Given the description of an element on the screen output the (x, y) to click on. 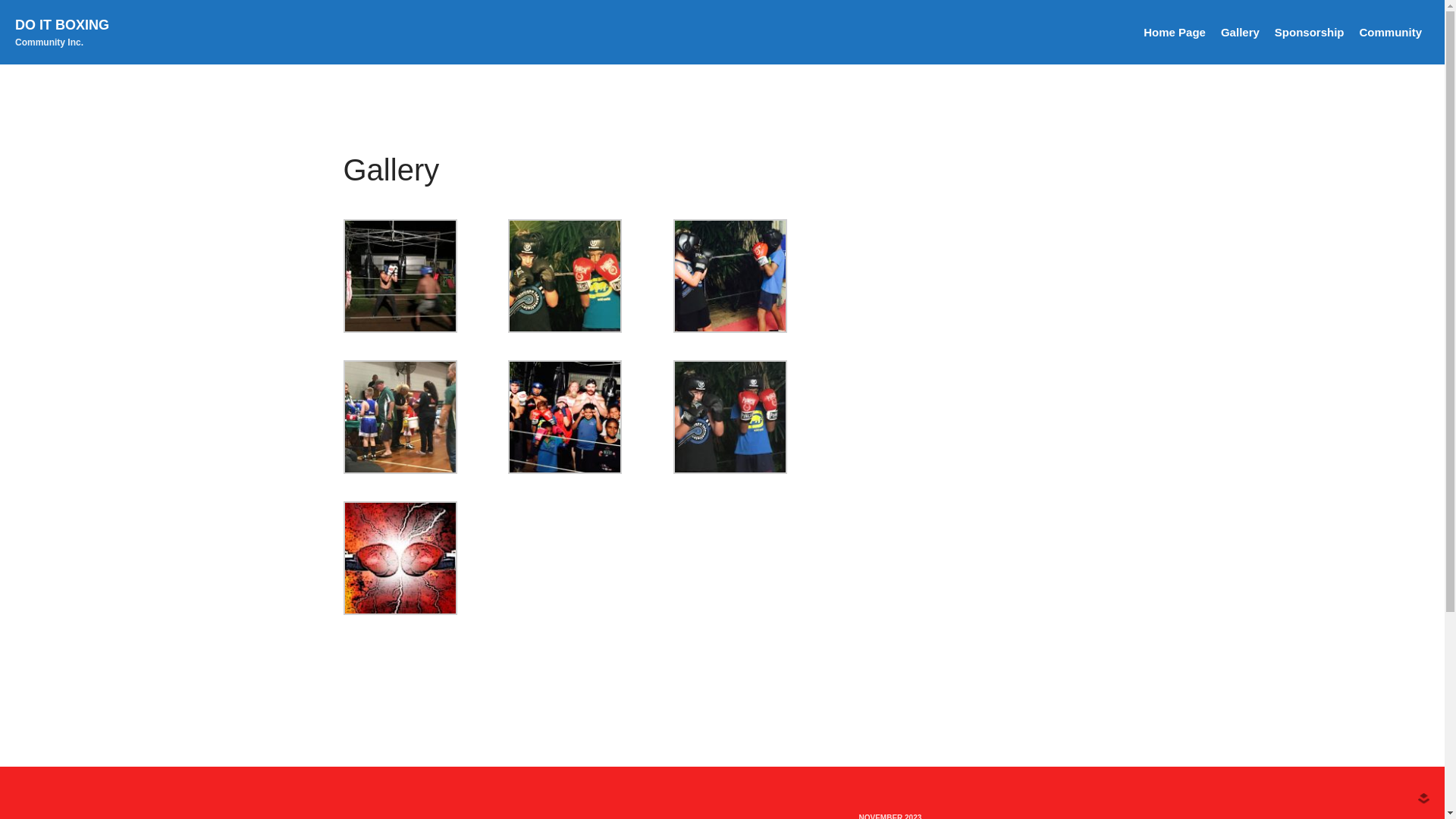
DO IT BOXING Element type: text (62, 24)
Community Element type: text (1389, 31)
Sponsorship Element type: text (1309, 31)
Gallery Element type: text (1239, 31)
Home Page Element type: text (1174, 31)
